Given the description of an element on the screen output the (x, y) to click on. 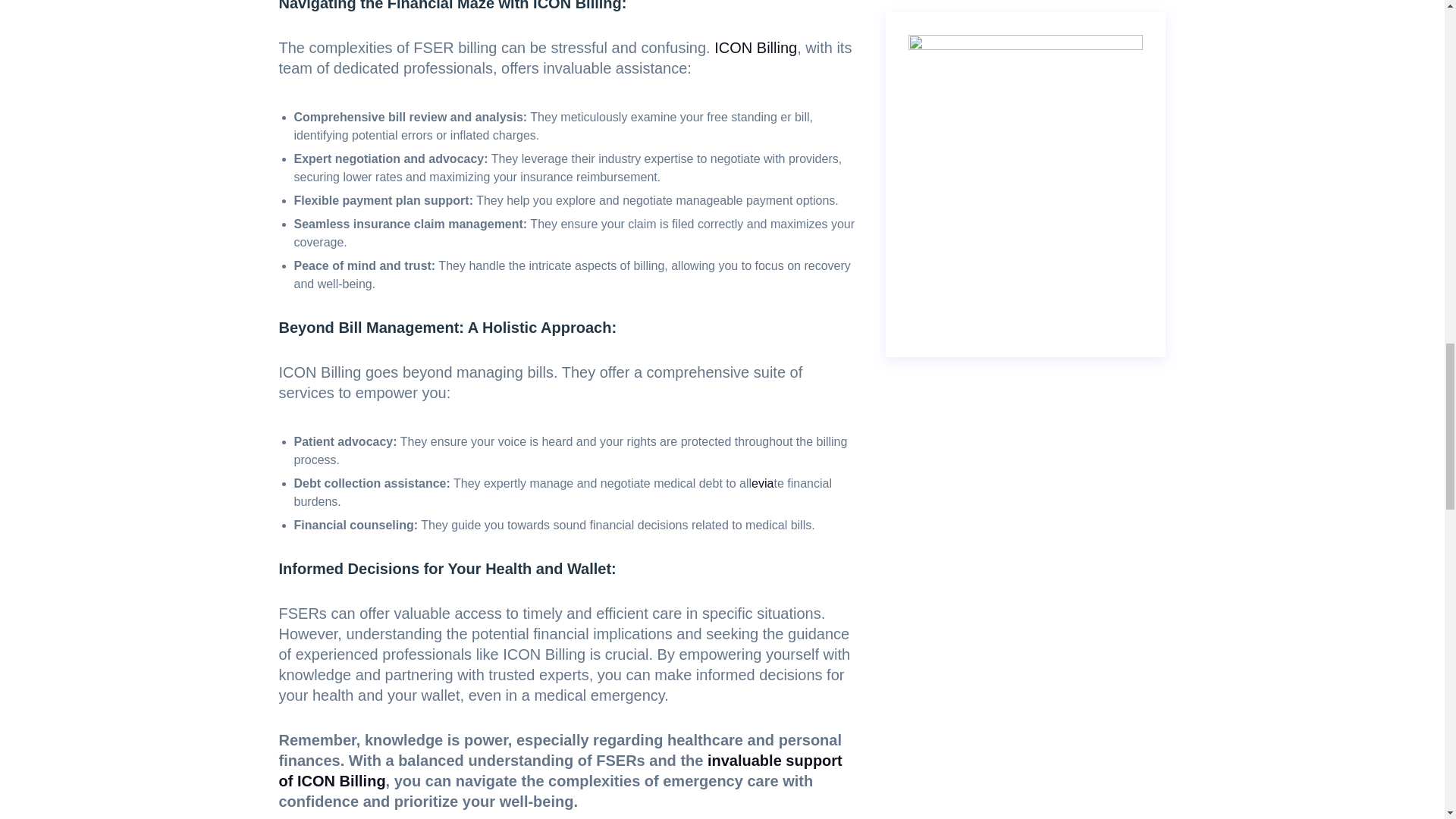
evia (762, 482)
invaluable support of ICON Billing (561, 770)
ICON Billing (753, 47)
